Given the description of an element on the screen output the (x, y) to click on. 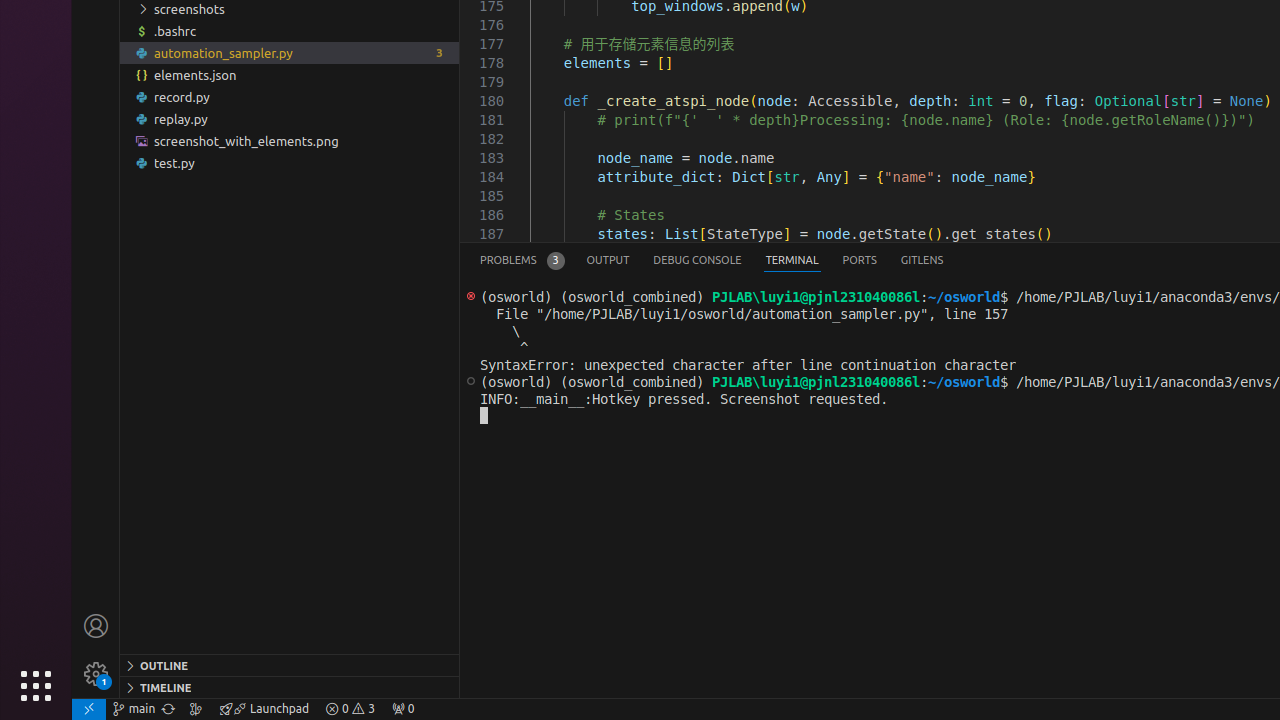
GitLens Element type: page-tab (922, 260)
Show the GitLens Commit Graph Element type: push-button (196, 709)
rocket gitlens-unplug Launchpad, GitLens Launchpad ᴘʀᴇᴠɪᴇᴡ    &mdash;    [$(question)](command:gitlens.launchpad.indicator.action?%22info%22 "What is this?") [$(gear)](command:workbench.action.openSettings?%22gitlens.launchpad%22 "Settings")  |  [$(circle-slash) Hide](command:gitlens.launchpad.indicator.action?%22hide%22 "Hide") --- [Launchpad](command:gitlens.launchpad.indicator.action?%info%22 "Learn about Launchpad") organizes your pull requests into actionable groups to help you focus and keep your team unblocked. It's always accessible using the `GitLens: Open Launchpad` command from the Command Palette. --- [Connect an integration](command:gitlens.showLaunchpad?%7B%22source%22%3A%22launchpad-indicator%22%7D "Connect an integration") to get started. Element type: push-button (264, 709)
Manage - New Code update available. Element type: push-button (96, 674)
elements.json Element type: tree-item (289, 75)
